Given the description of an element on the screen output the (x, y) to click on. 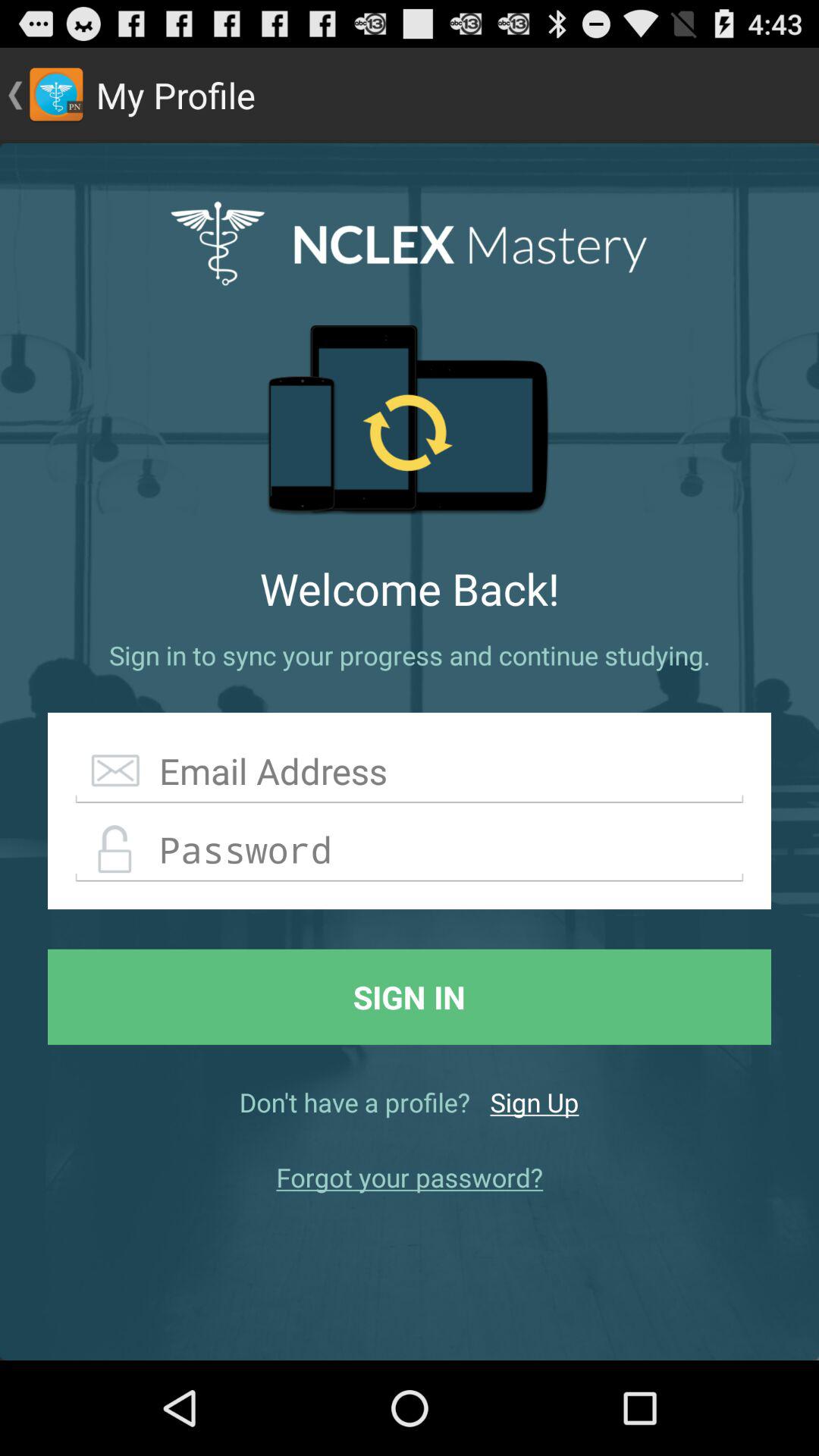
select forgot your password? icon (409, 1176)
